Given the description of an element on the screen output the (x, y) to click on. 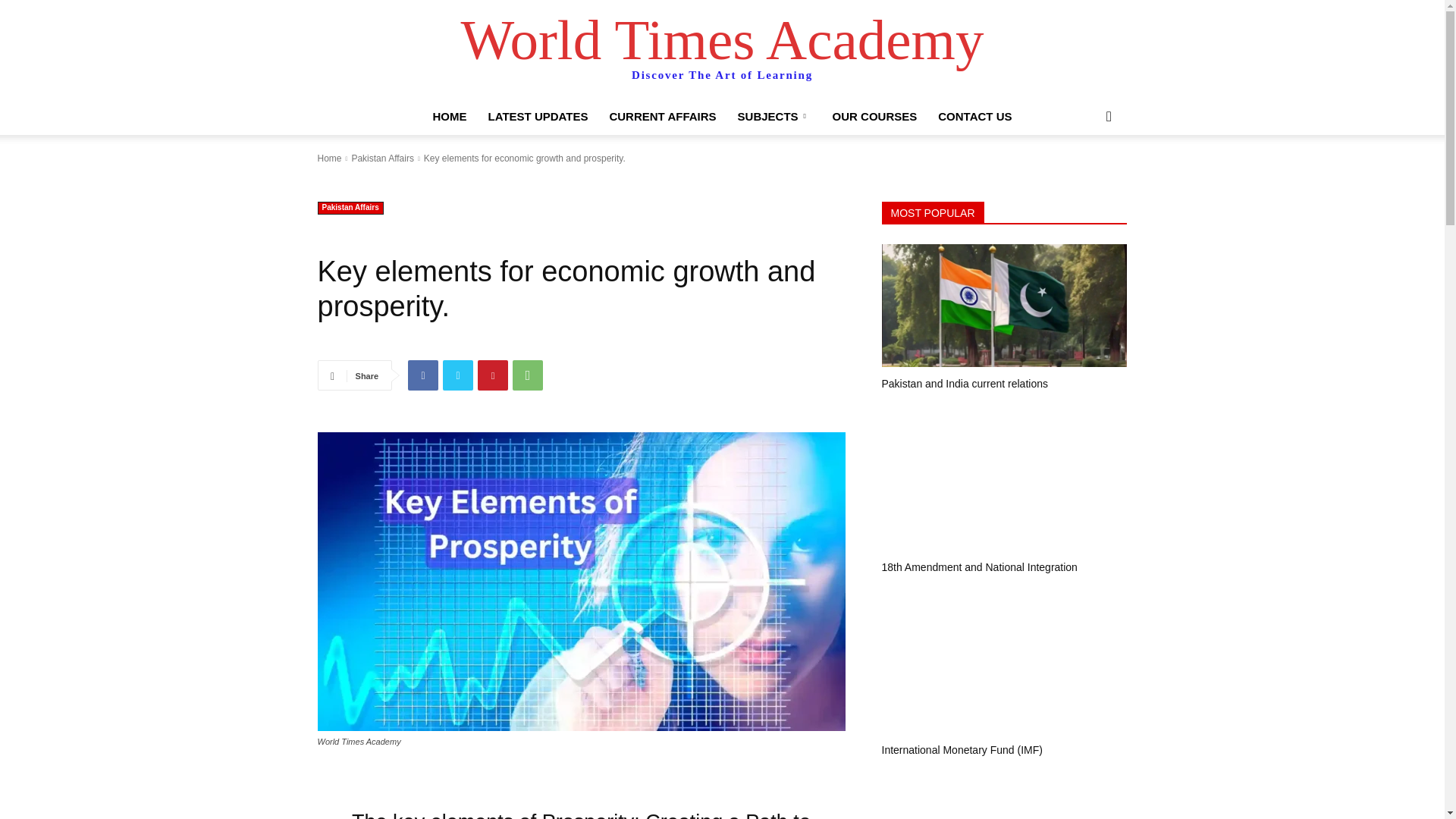
SUBJECTS (774, 116)
World Times Academy Discover The Art of Learning (721, 49)
Pakistan Affairs (381, 158)
Pinterest (492, 375)
Facebook (422, 375)
WhatsApp (527, 375)
Search (1085, 177)
Twitter (457, 375)
Pakistan Affairs (349, 207)
